Given the description of an element on the screen output the (x, y) to click on. 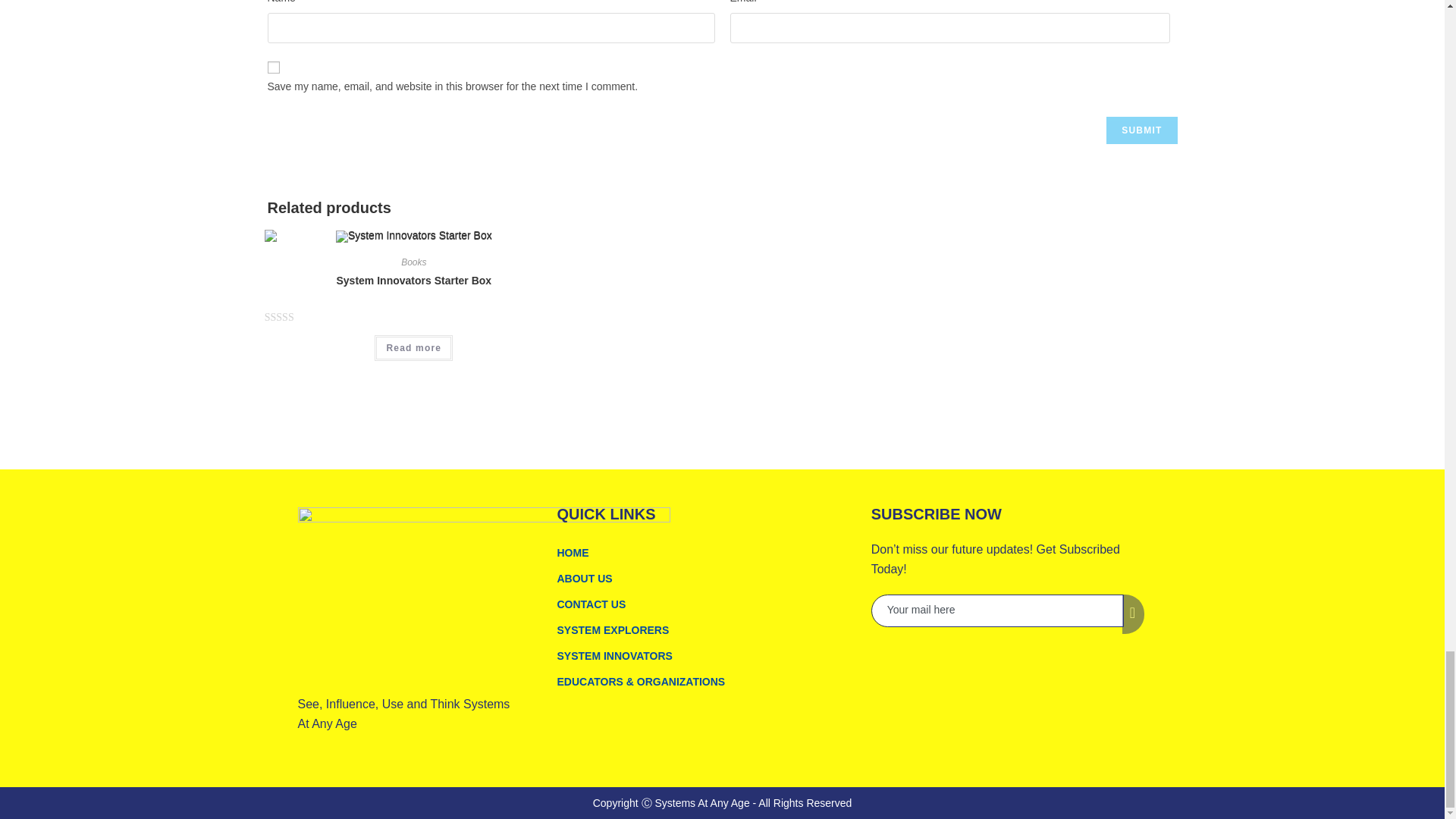
HOME (706, 552)
SYSTEM INNOVATORS (706, 655)
SYSTEM EXPLORERS (706, 629)
Read more (413, 347)
ABOUT US (706, 578)
Submit (1141, 130)
Books (413, 262)
Submit (1141, 130)
System Innovators Starter Box (414, 280)
CONTACT US (706, 604)
yes (272, 67)
